Given the description of an element on the screen output the (x, y) to click on. 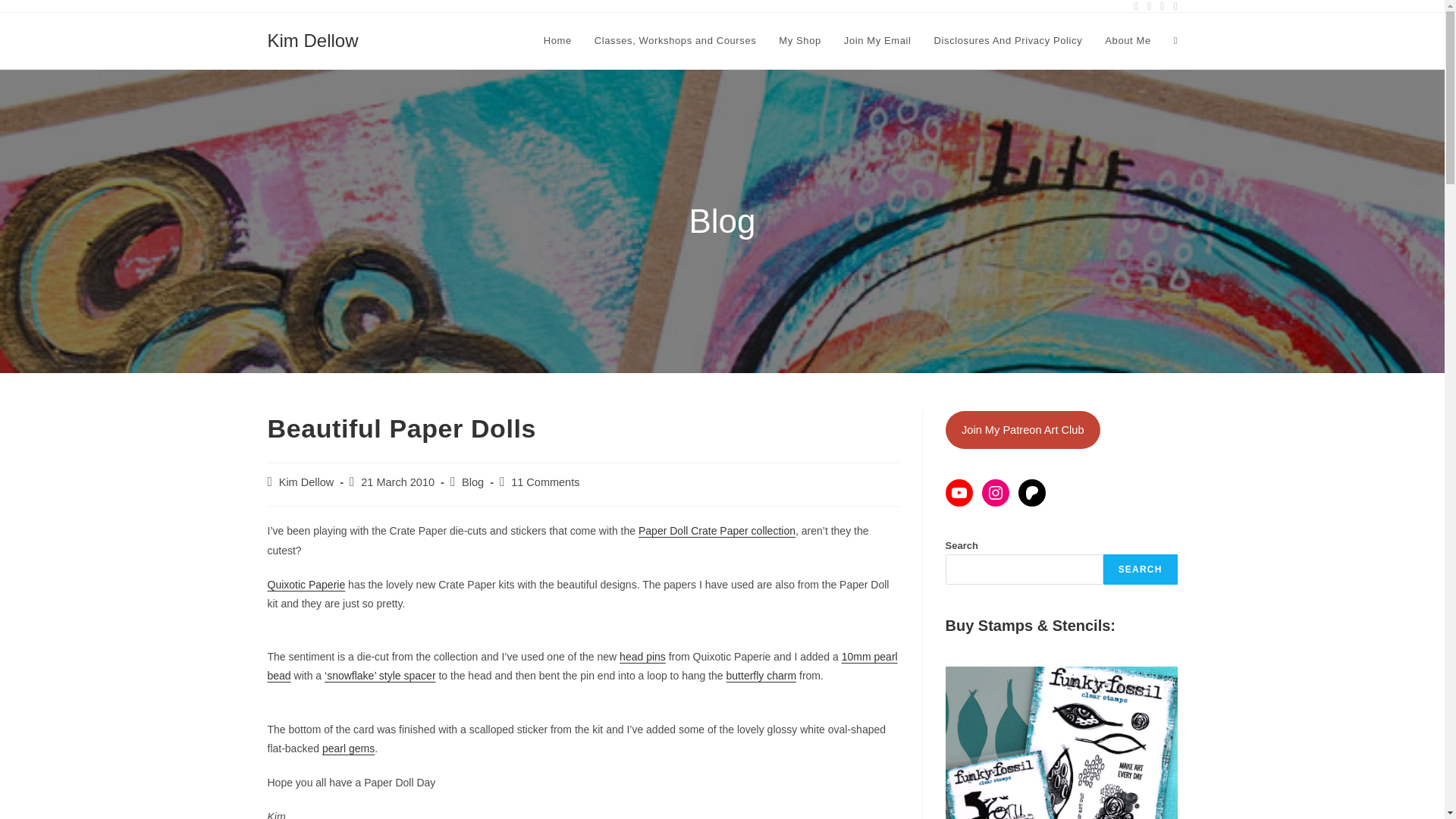
10mm pearl bead (581, 665)
head pins (642, 656)
About Me (1127, 40)
Kim Dellow (312, 40)
pearl gems (347, 748)
Paper Doll Crate Paper collection (716, 530)
Kim Dellow (306, 481)
butterfly charm (761, 675)
Disclosures And Privacy Policy (1008, 40)
Blog (472, 481)
